Given the description of an element on the screen output the (x, y) to click on. 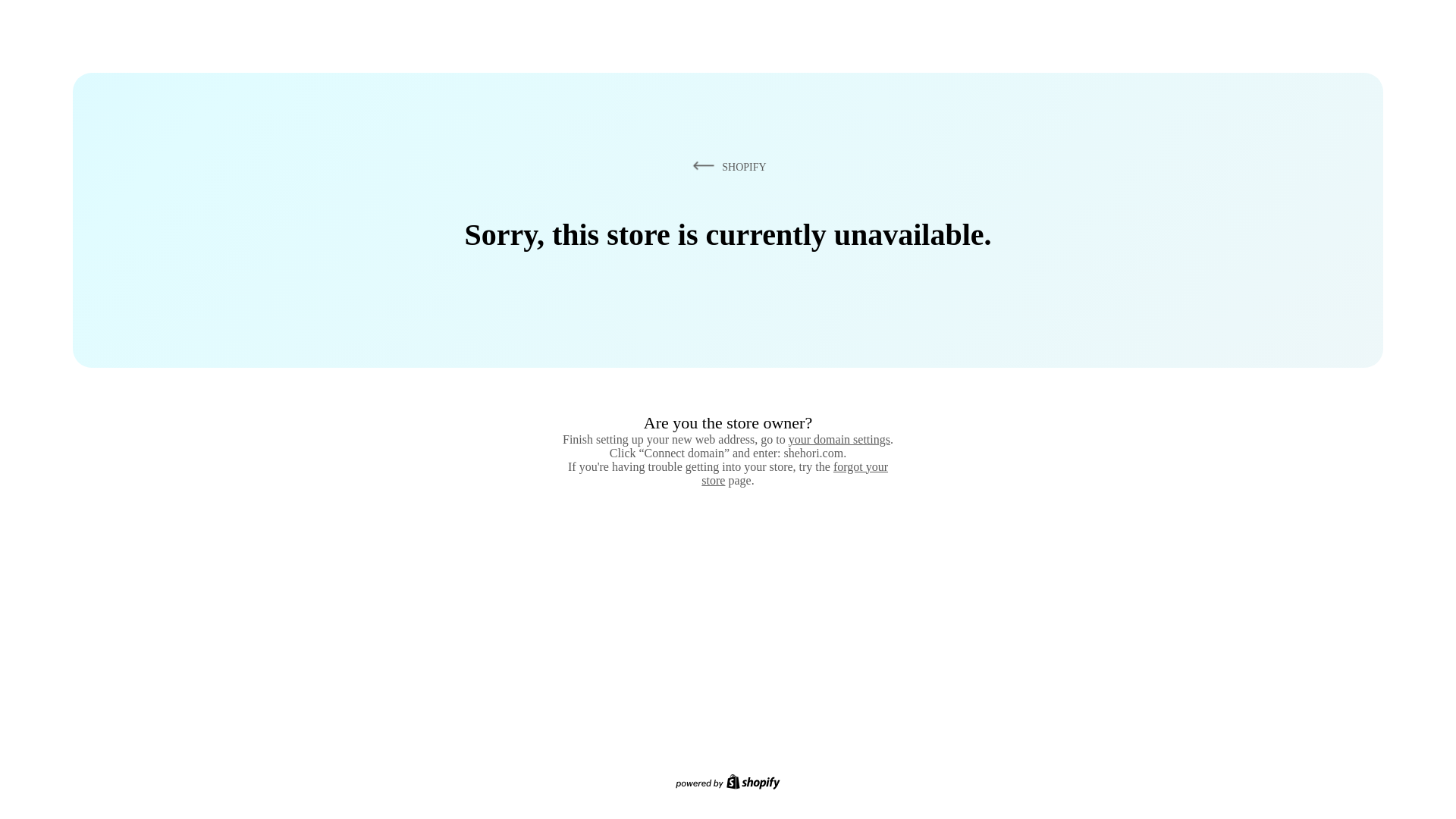
forgot your store (794, 473)
SHOPIFY (726, 166)
your domain settings (839, 439)
